Given the description of an element on the screen output the (x, y) to click on. 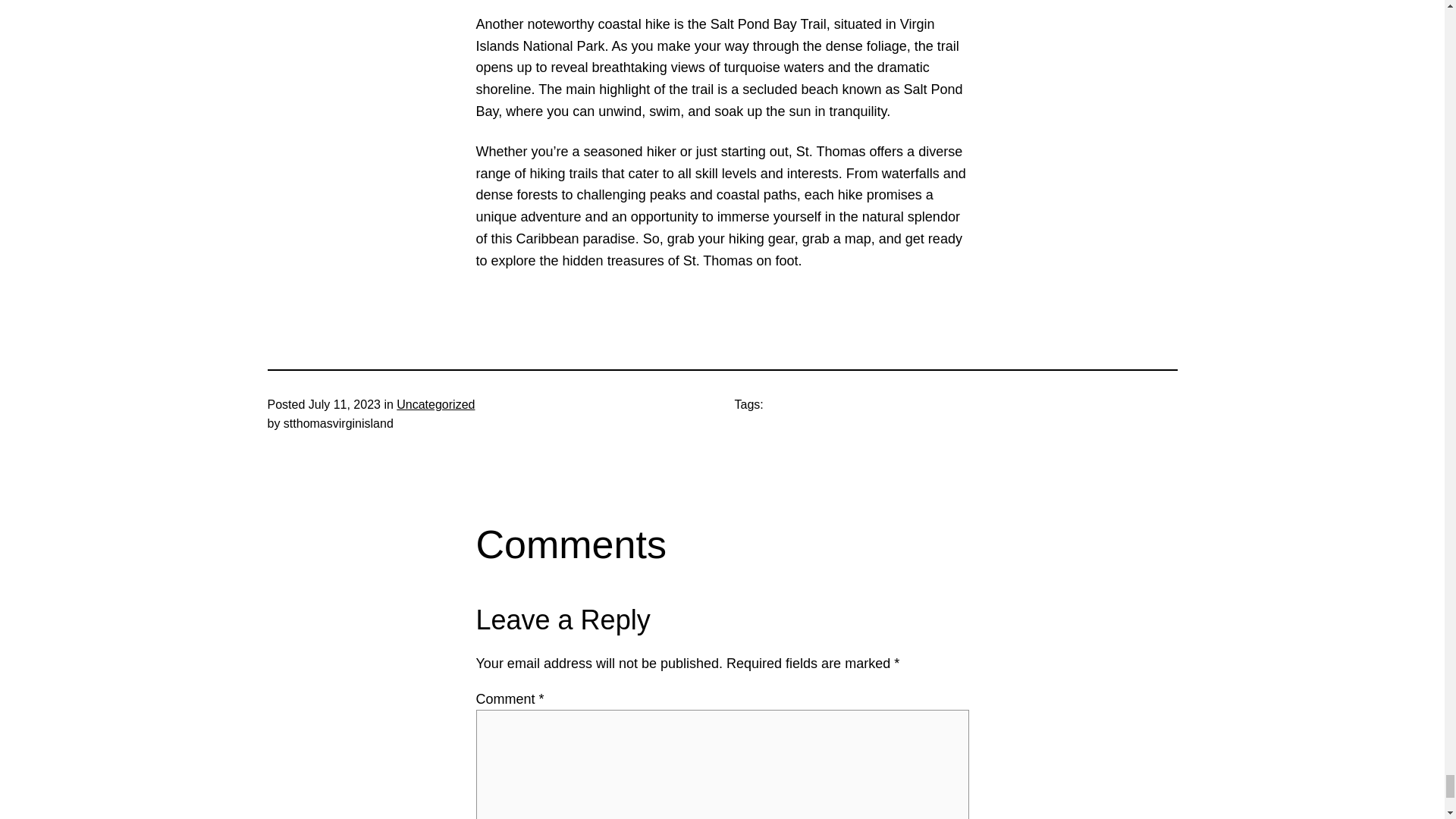
Uncategorized (435, 404)
